Given the description of an element on the screen output the (x, y) to click on. 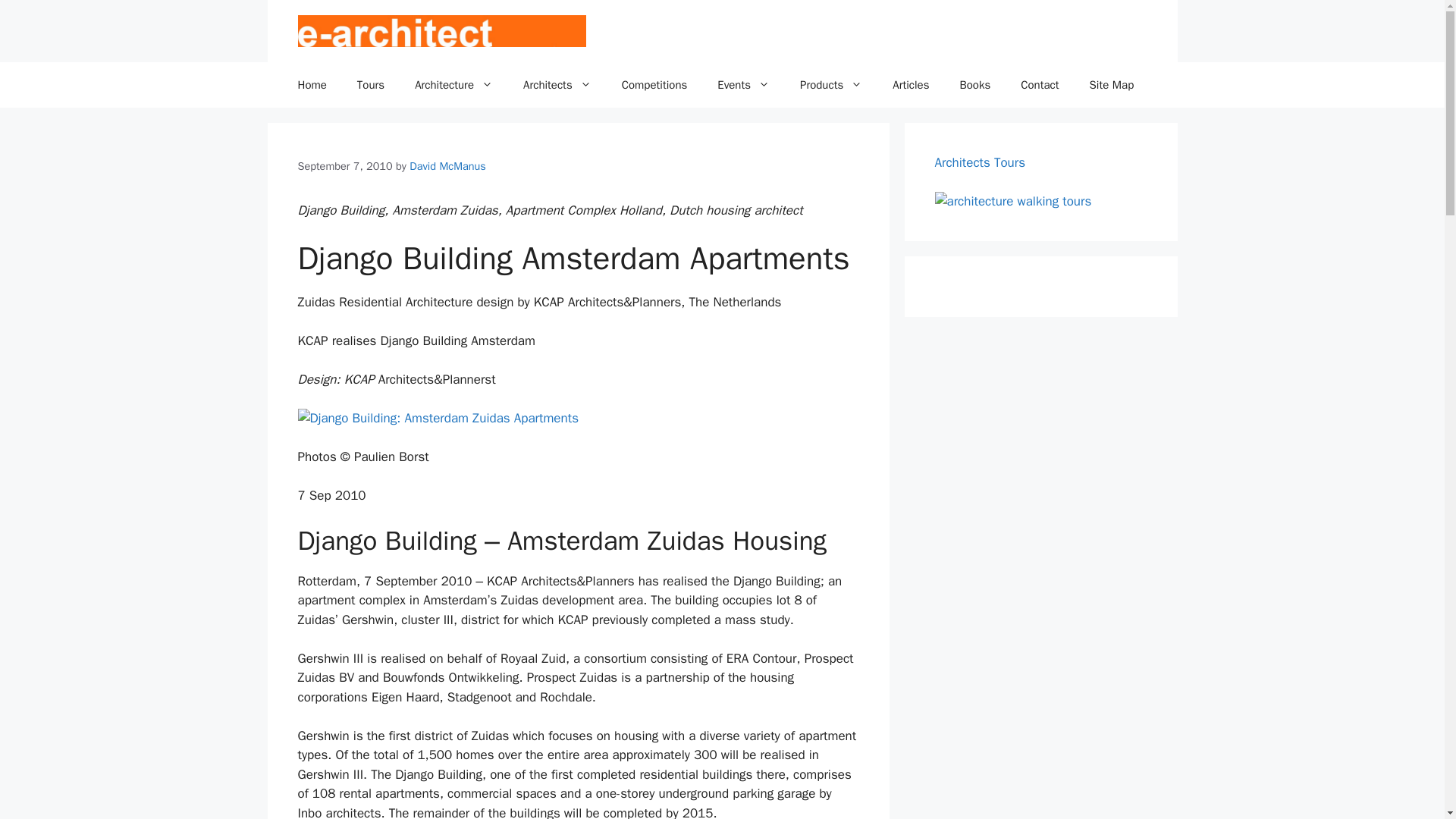
Site Map (1112, 84)
Tours (370, 84)
Architects (557, 84)
Products (830, 84)
David McManus (447, 165)
Home (311, 84)
Events (742, 84)
View all posts by David McManus (447, 165)
Contact (1040, 84)
Articles (910, 84)
Competitions (655, 84)
Home (311, 84)
Books (974, 84)
Architecture (453, 84)
